Given the description of an element on the screen output the (x, y) to click on. 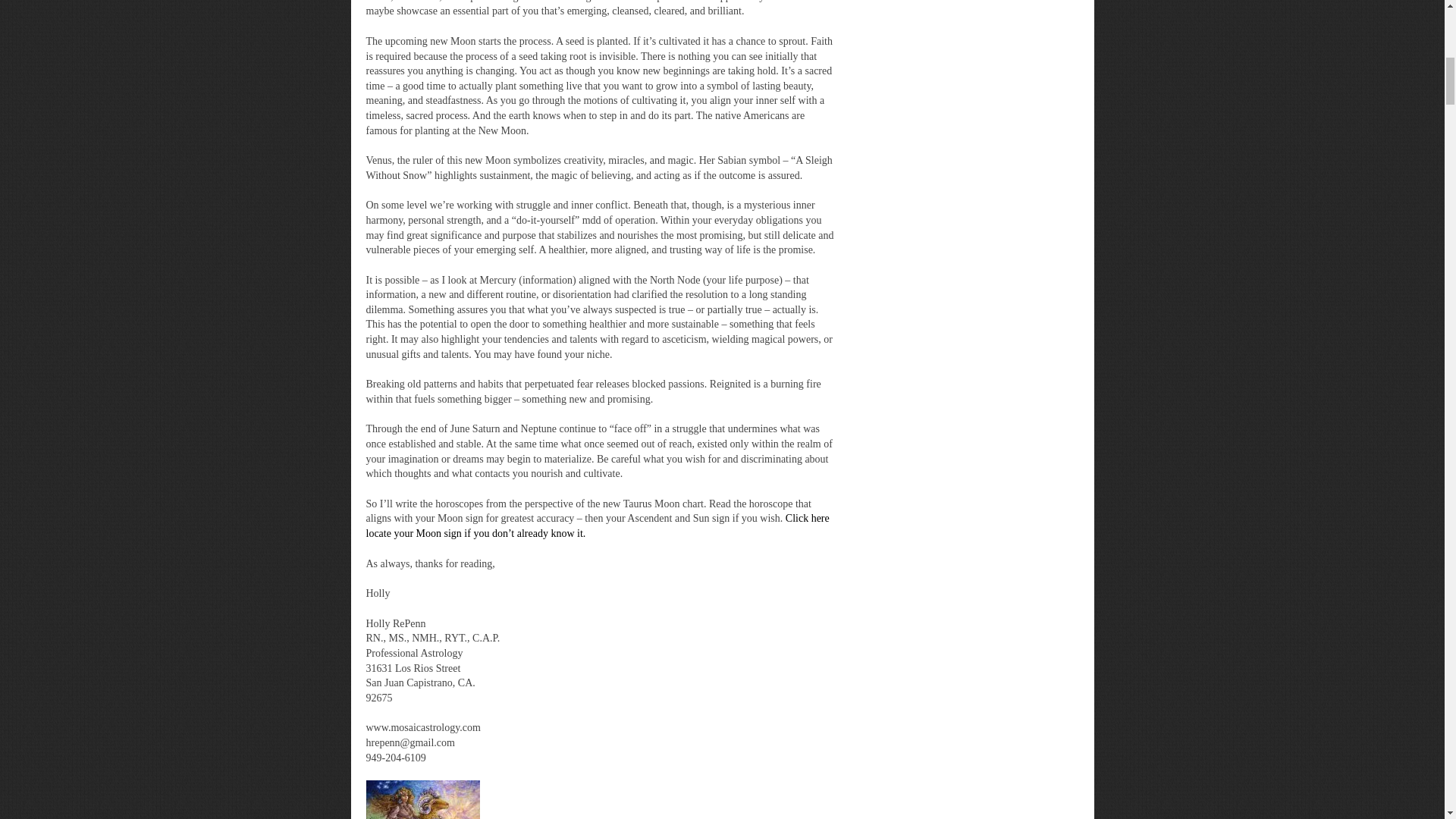
aries (422, 799)
